Given the description of an element on the screen output the (x, y) to click on. 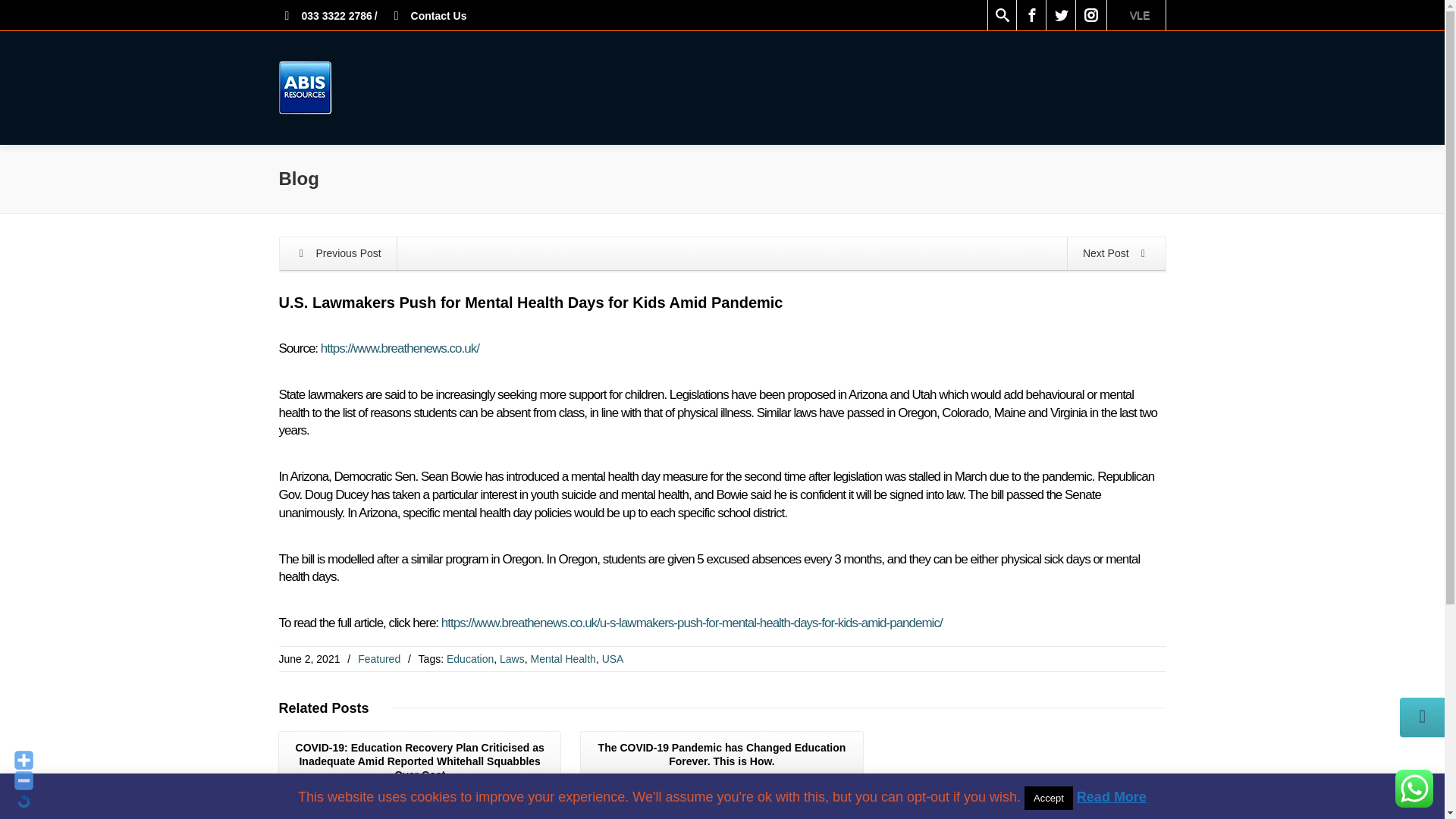
Facebook (1031, 15)
Level 2 Certificate in Nutrition and Health (337, 816)
Contact Us (427, 15)
Laws (511, 658)
Previous Post (337, 253)
Next Post (1116, 816)
Increase font size (23, 760)
Featured (379, 658)
